Given the description of an element on the screen output the (x, y) to click on. 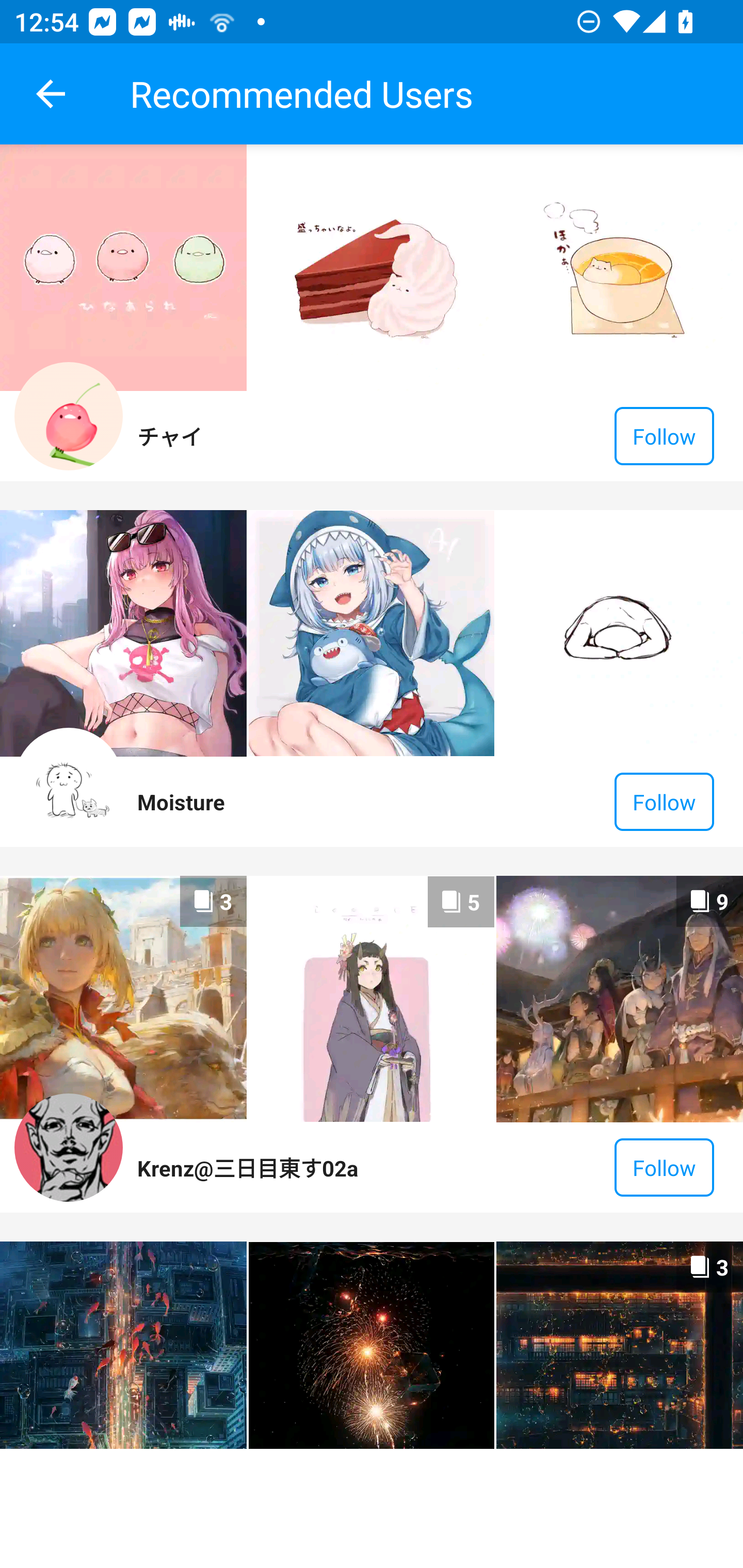
Navigate up (50, 93)
チャイ (169, 435)
Follow (664, 436)
Moisture (180, 802)
Follow (664, 802)
3 (123, 999)
9 (619, 999)
5 (371, 998)
Krenz@三日目東す02a (247, 1166)
Follow (664, 1167)
3 (619, 1344)
